Given the description of an element on the screen output the (x, y) to click on. 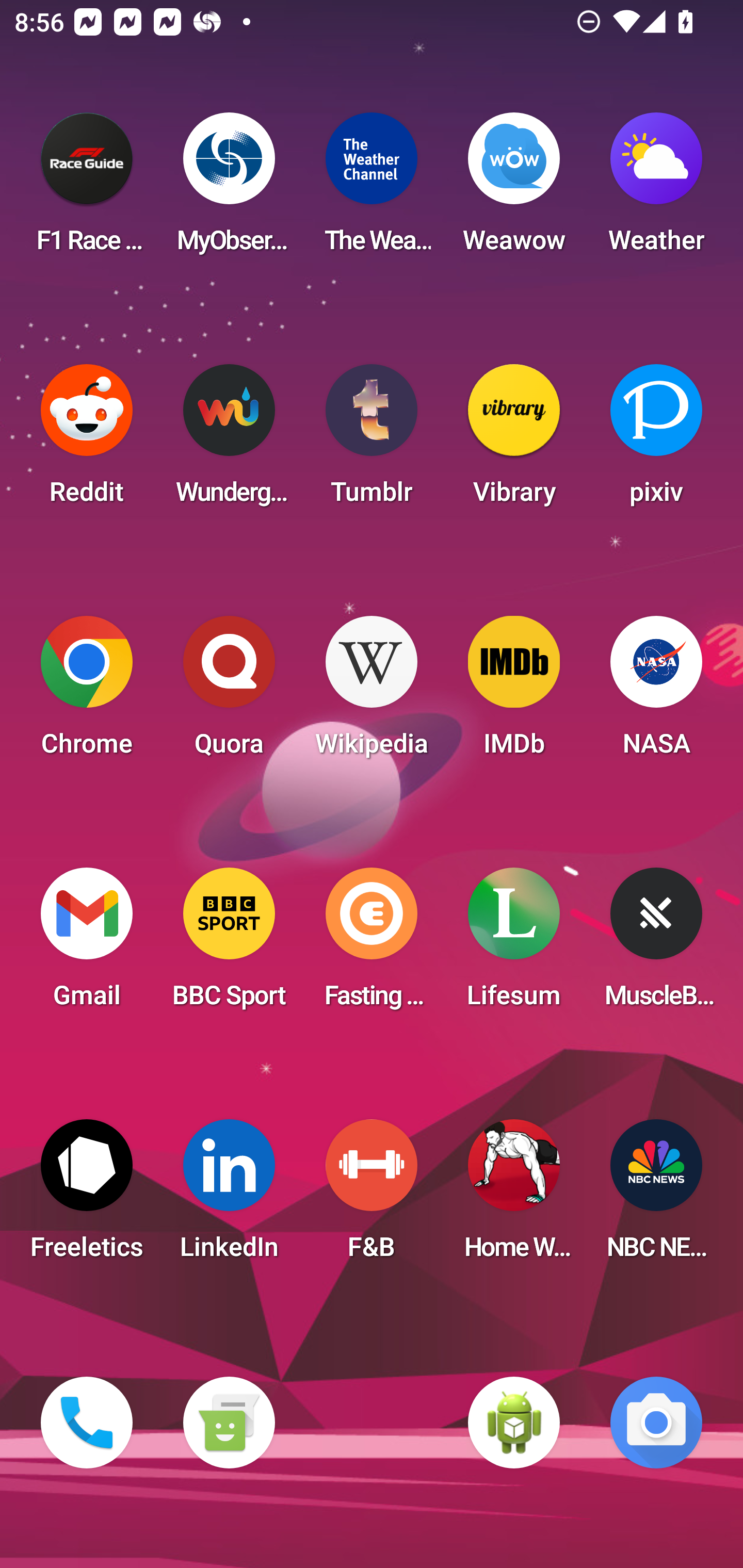
F1 Race Guide (86, 188)
MyObservatory (228, 188)
The Weather Channel (371, 188)
Weawow (513, 188)
Weather (656, 188)
Reddit (86, 440)
Wunderground (228, 440)
Tumblr (371, 440)
Vibrary (513, 440)
pixiv (656, 440)
Chrome (86, 692)
Quora (228, 692)
Wikipedia (371, 692)
IMDb (513, 692)
NASA (656, 692)
Gmail (86, 943)
BBC Sport (228, 943)
Fasting Coach (371, 943)
Lifesum (513, 943)
MuscleBooster (656, 943)
Freeletics (86, 1195)
LinkedIn (228, 1195)
F&B (371, 1195)
Home Workout (513, 1195)
NBC NEWS (656, 1195)
Phone (86, 1422)
Messaging (228, 1422)
WebView Browser Tester (513, 1422)
Camera (656, 1422)
